Given the description of an element on the screen output the (x, y) to click on. 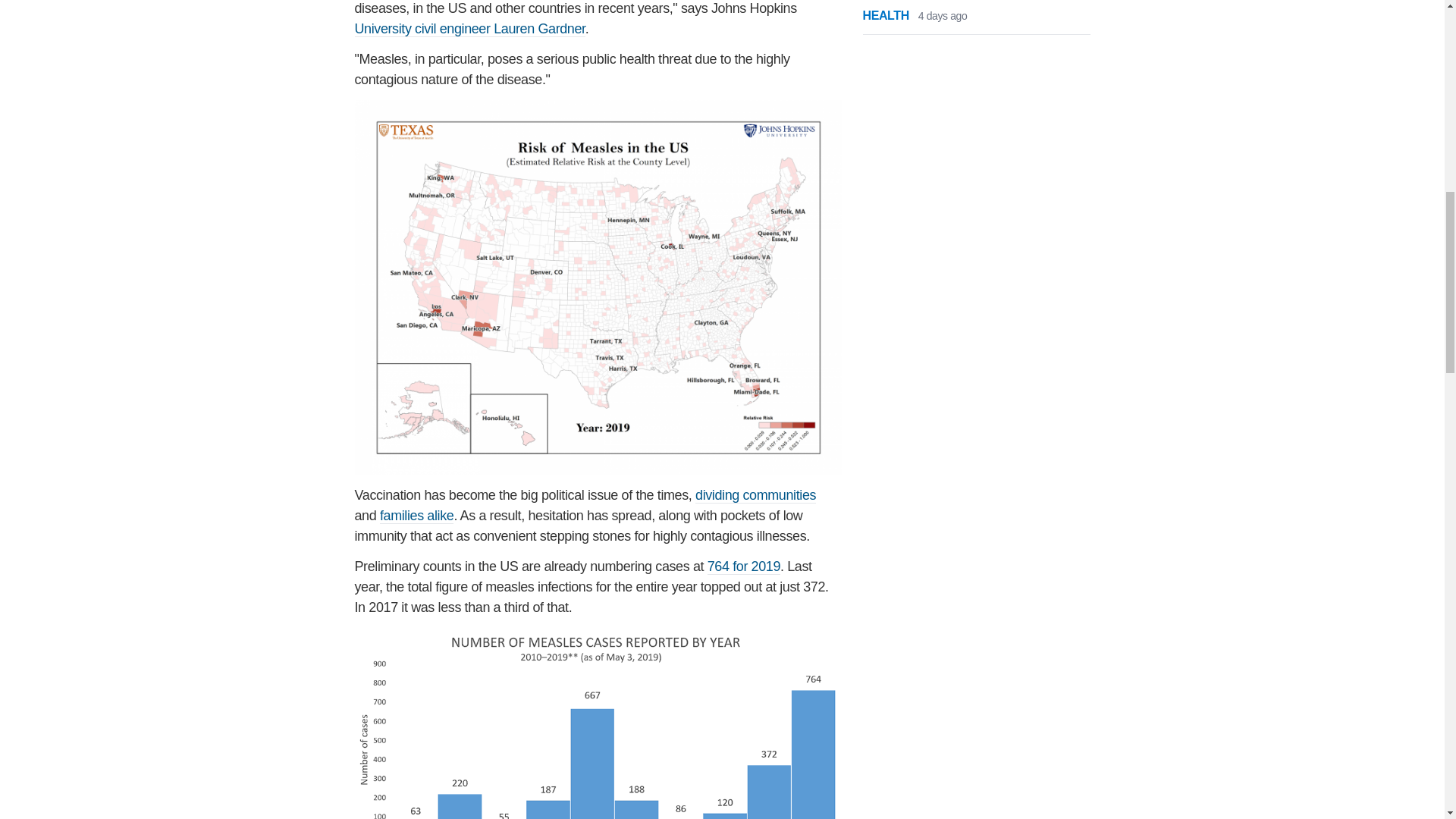
families alike (416, 515)
University civil engineer Lauren Gardner (470, 28)
dividing communities (755, 495)
764 for 2019 (743, 566)
